Given the description of an element on the screen output the (x, y) to click on. 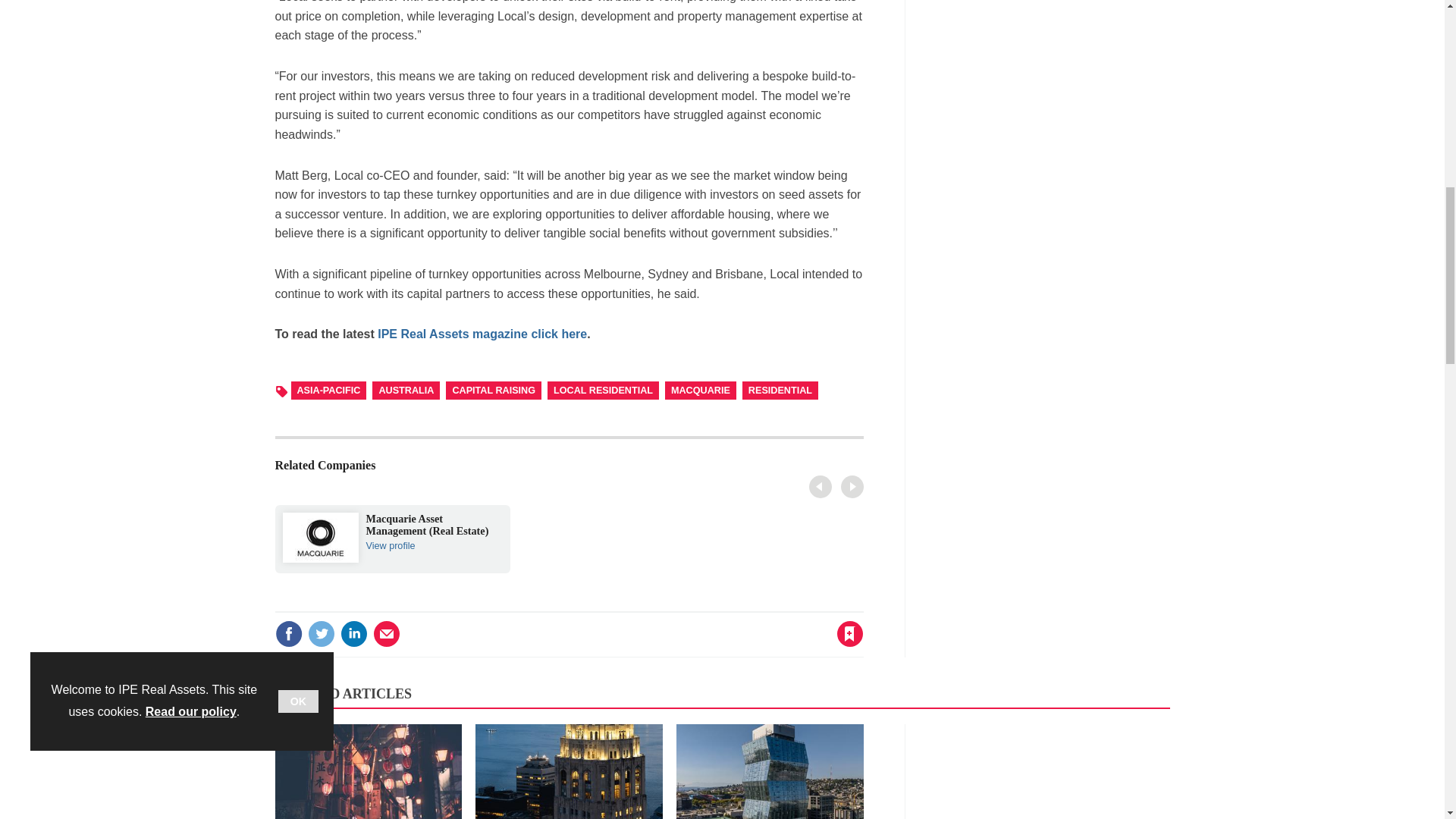
Share this on Facebook (826, 488)
Share this on Linked in (288, 633)
Email this article (569, 470)
Share this on Twitter (352, 633)
